Given the description of an element on the screen output the (x, y) to click on. 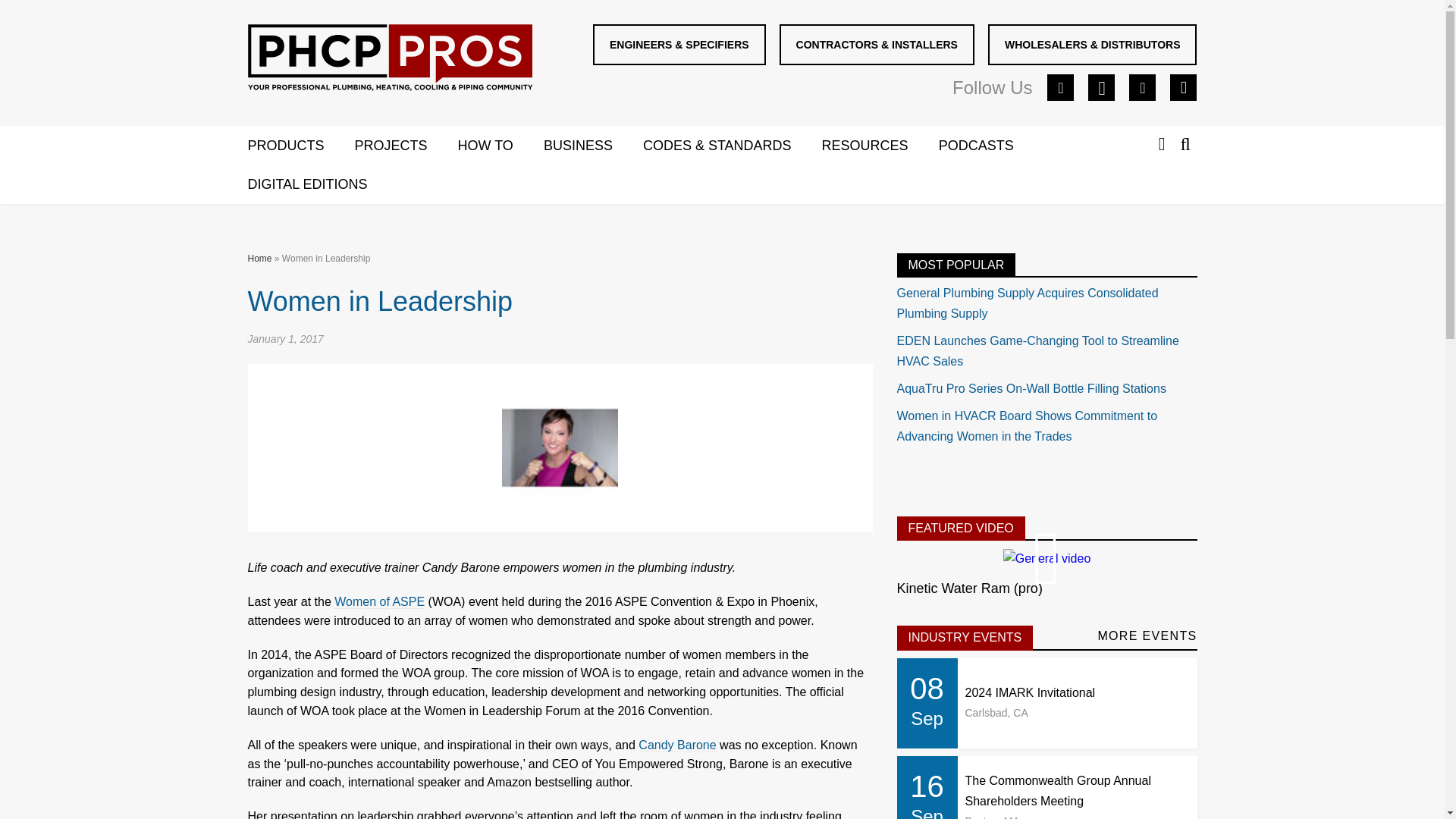
logo (389, 60)
PROJECTS (406, 146)
HOW TO (500, 146)
logo (389, 57)
PRODUCTS (300, 146)
BUSINESS (593, 146)
